Given the description of an element on the screen output the (x, y) to click on. 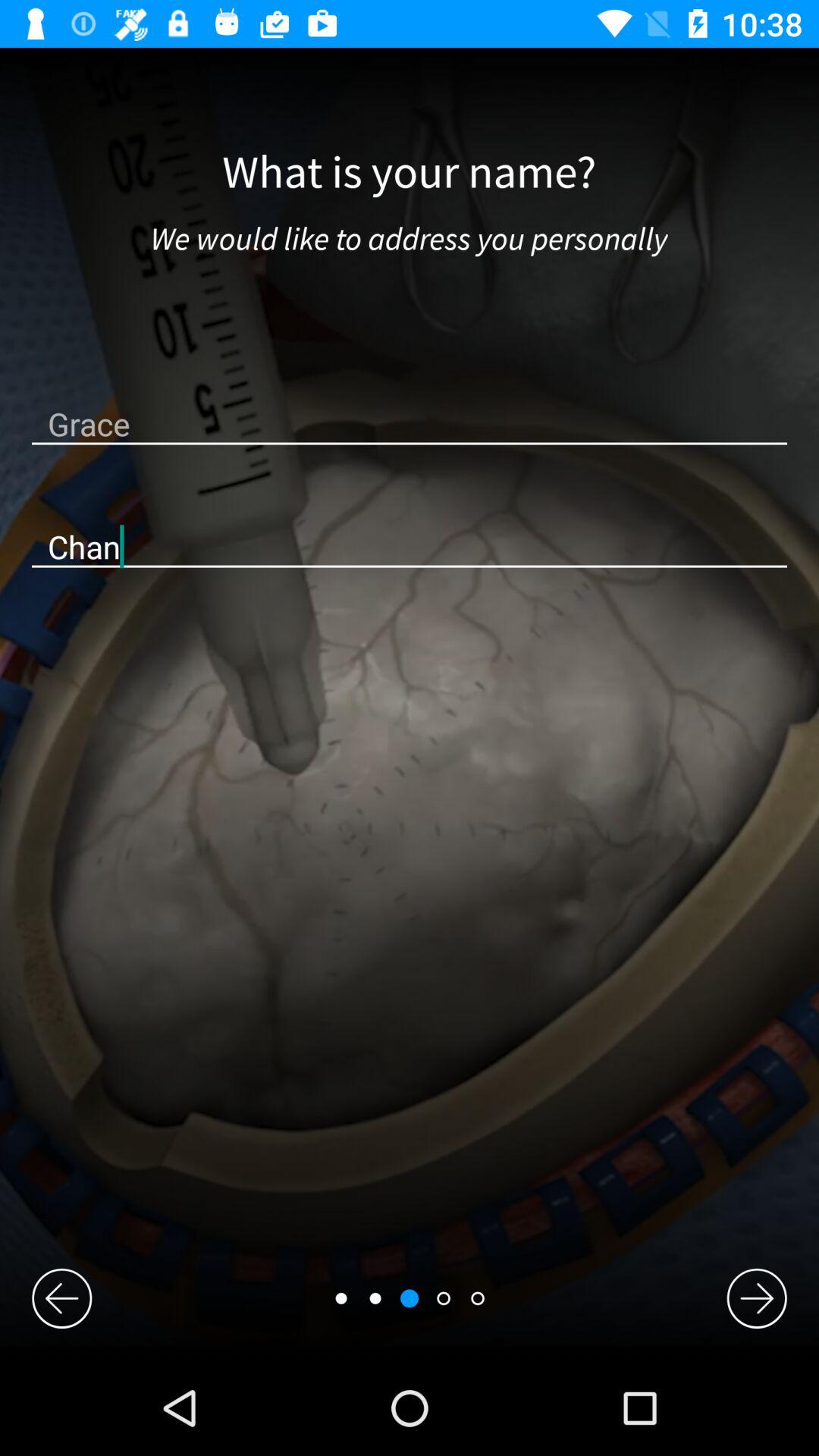
scroll until grace item (409, 423)
